Given the description of an element on the screen output the (x, y) to click on. 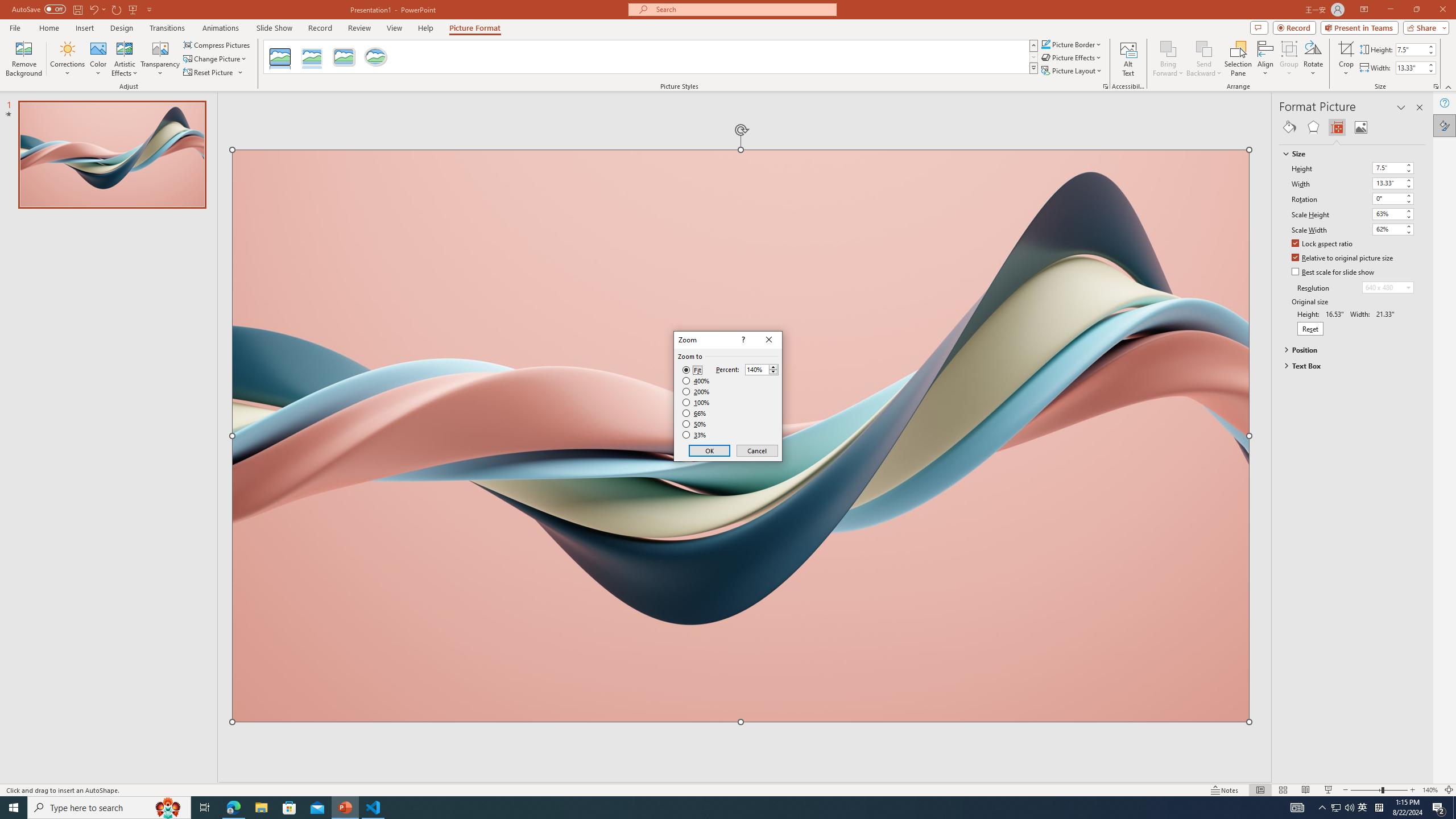
Height (1393, 167)
Picture Border (1071, 44)
AutomationID: PictureStylesGallery (650, 56)
Transparency (160, 58)
Send Backward (1204, 58)
Percent (761, 369)
Picture... (1104, 85)
